Given the description of an element on the screen output the (x, y) to click on. 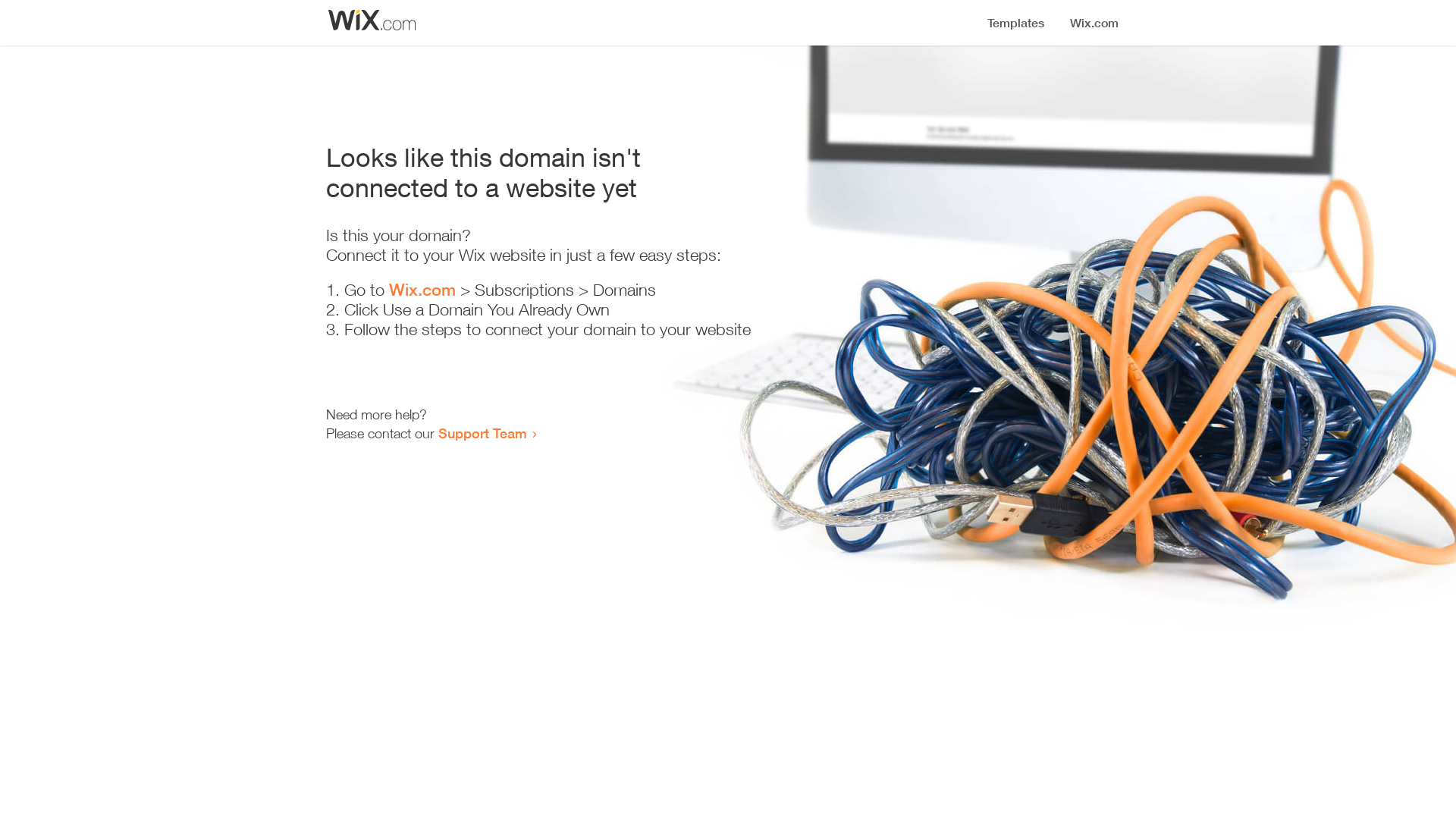
Wix.com Element type: text (422, 289)
Support Team Element type: text (482, 432)
